Given the description of an element on the screen output the (x, y) to click on. 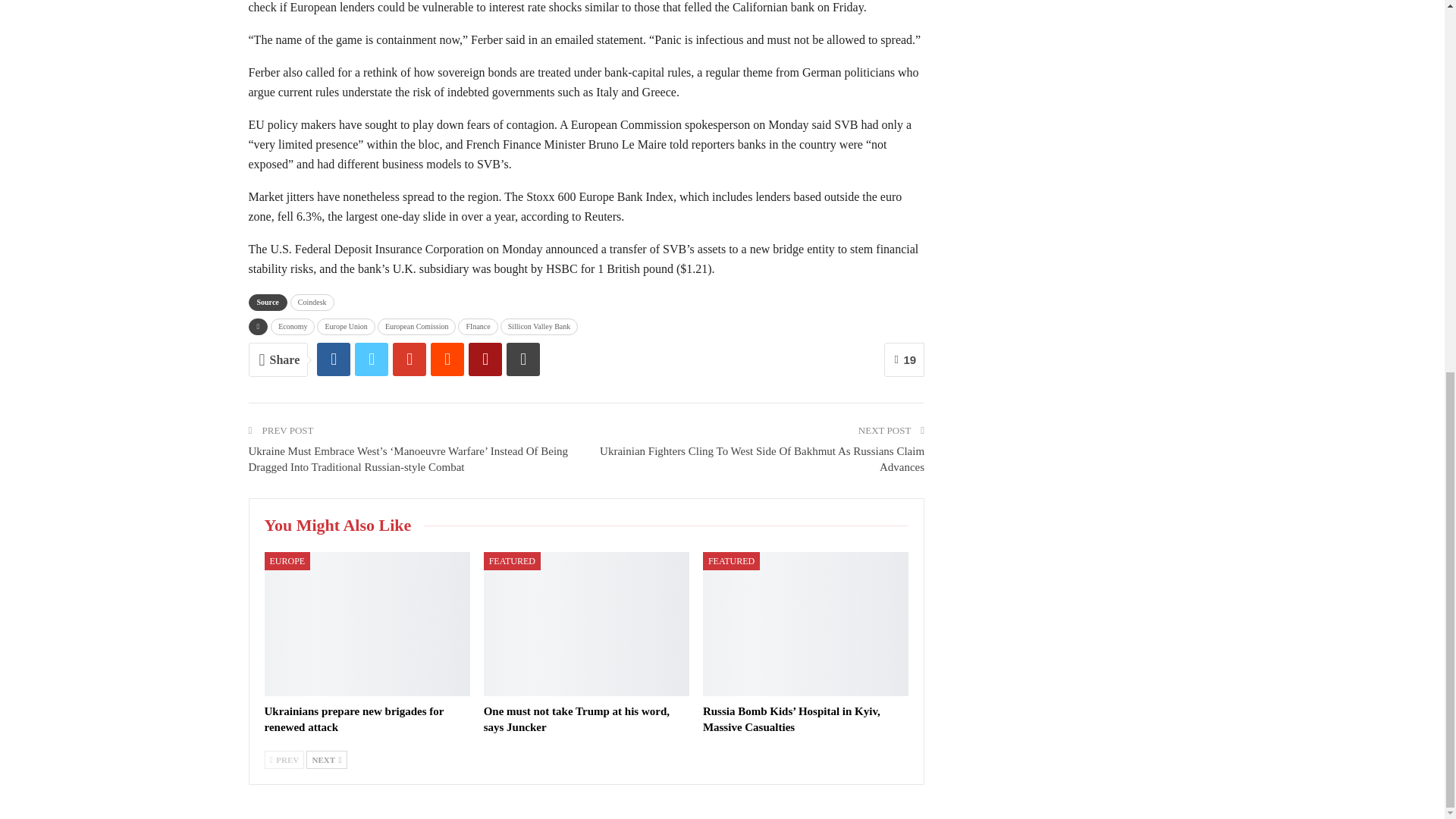
One must not take Trump at his word, says Juncker (585, 624)
Ukrainians prepare new brigades for renewed attack (353, 719)
Next (325, 760)
One must not take Trump at his word, says Juncker (576, 719)
Ukrainians prepare new brigades for renewed attack (365, 624)
Previous (283, 760)
